Given the description of an element on the screen output the (x, y) to click on. 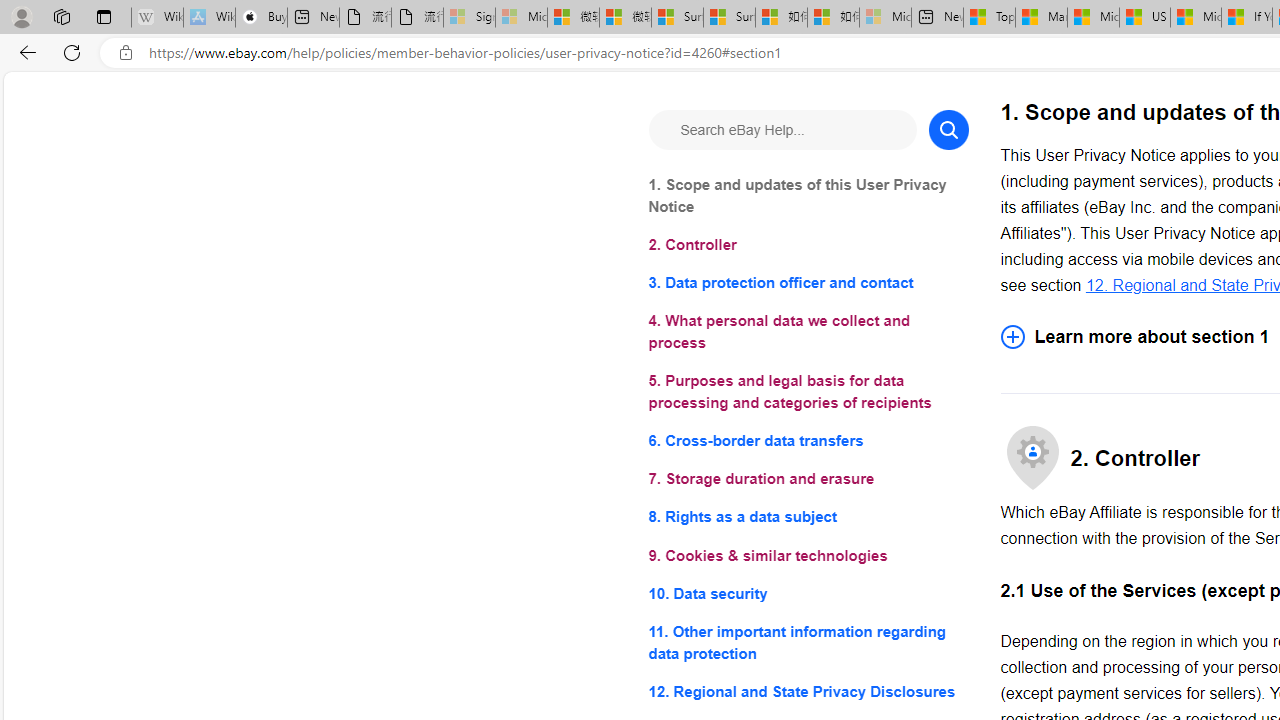
3. Data protection officer and contact (807, 283)
1. Scope and updates of this User Privacy Notice (807, 196)
1. Scope and updates of this User Privacy Notice (807, 196)
4. What personal data we collect and process (807, 332)
3. Data protection officer and contact (807, 283)
Microsoft Services Agreement - Sleeping (520, 17)
12. Regional and State Privacy Disclosures (807, 690)
Wikipedia - Sleeping (157, 17)
6. Cross-border data transfers (807, 440)
11. Other important information regarding data protection (807, 642)
11. Other important information regarding data protection (807, 642)
